Given the description of an element on the screen output the (x, y) to click on. 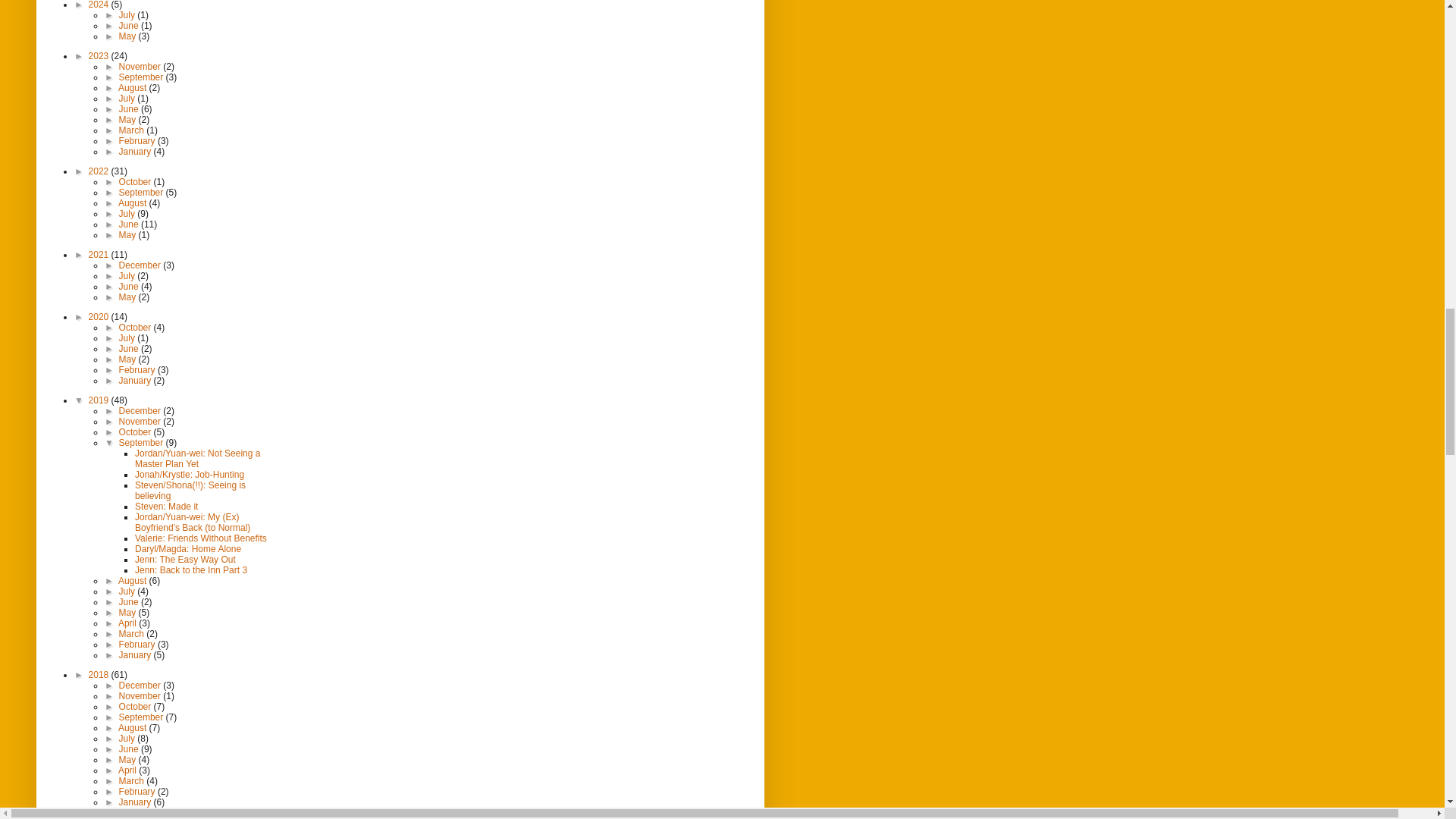
August (133, 87)
July (128, 14)
2024 (100, 4)
May (128, 36)
June (130, 25)
November (141, 66)
September (142, 77)
2023 (100, 55)
